Given the description of an element on the screen output the (x, y) to click on. 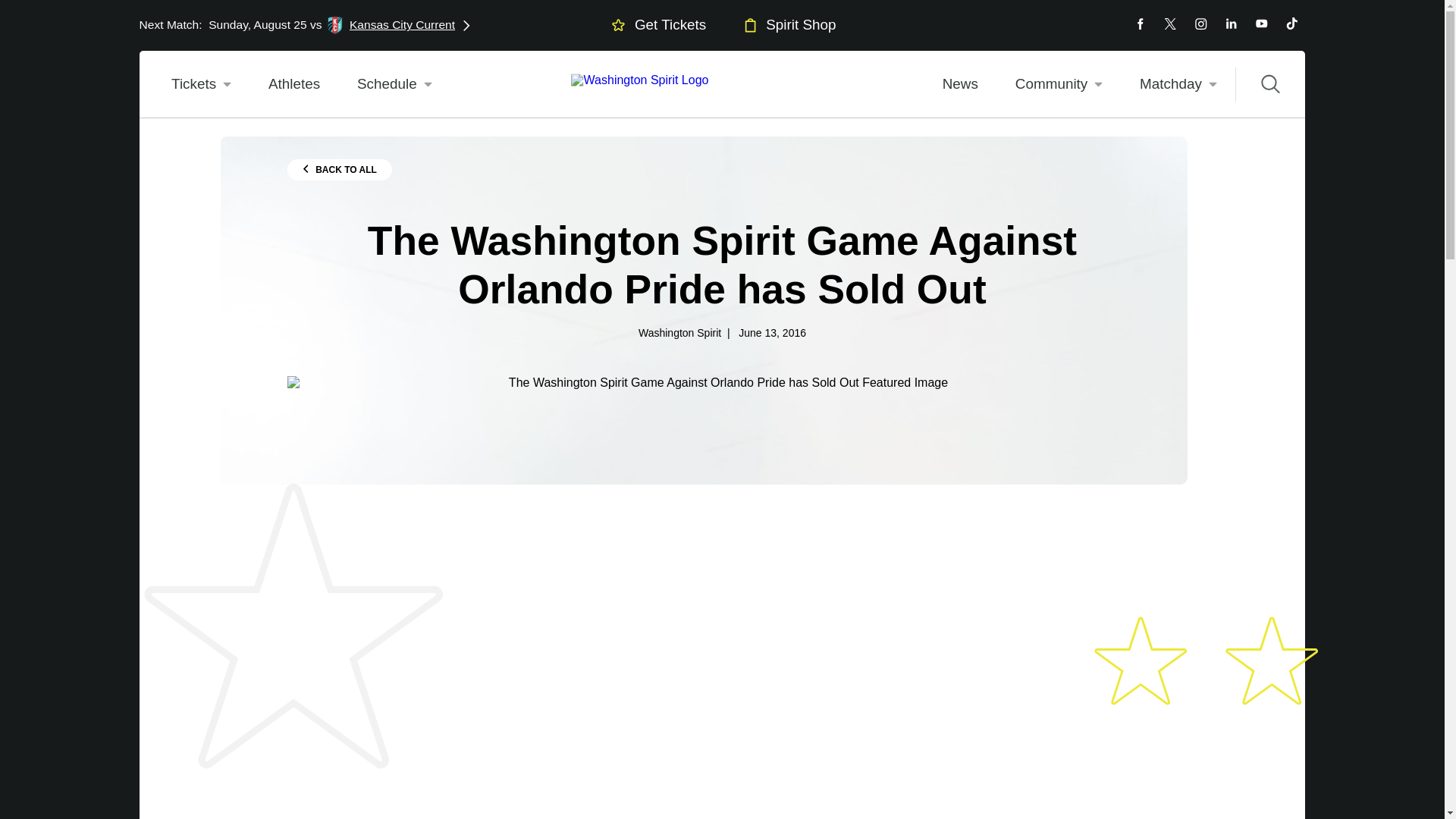
Athletes (292, 83)
News (959, 83)
Tickets (201, 83)
Community (304, 25)
Spirit Shop (1058, 83)
Schedule (787, 24)
Get Tickets (394, 83)
